Given the description of an element on the screen output the (x, y) to click on. 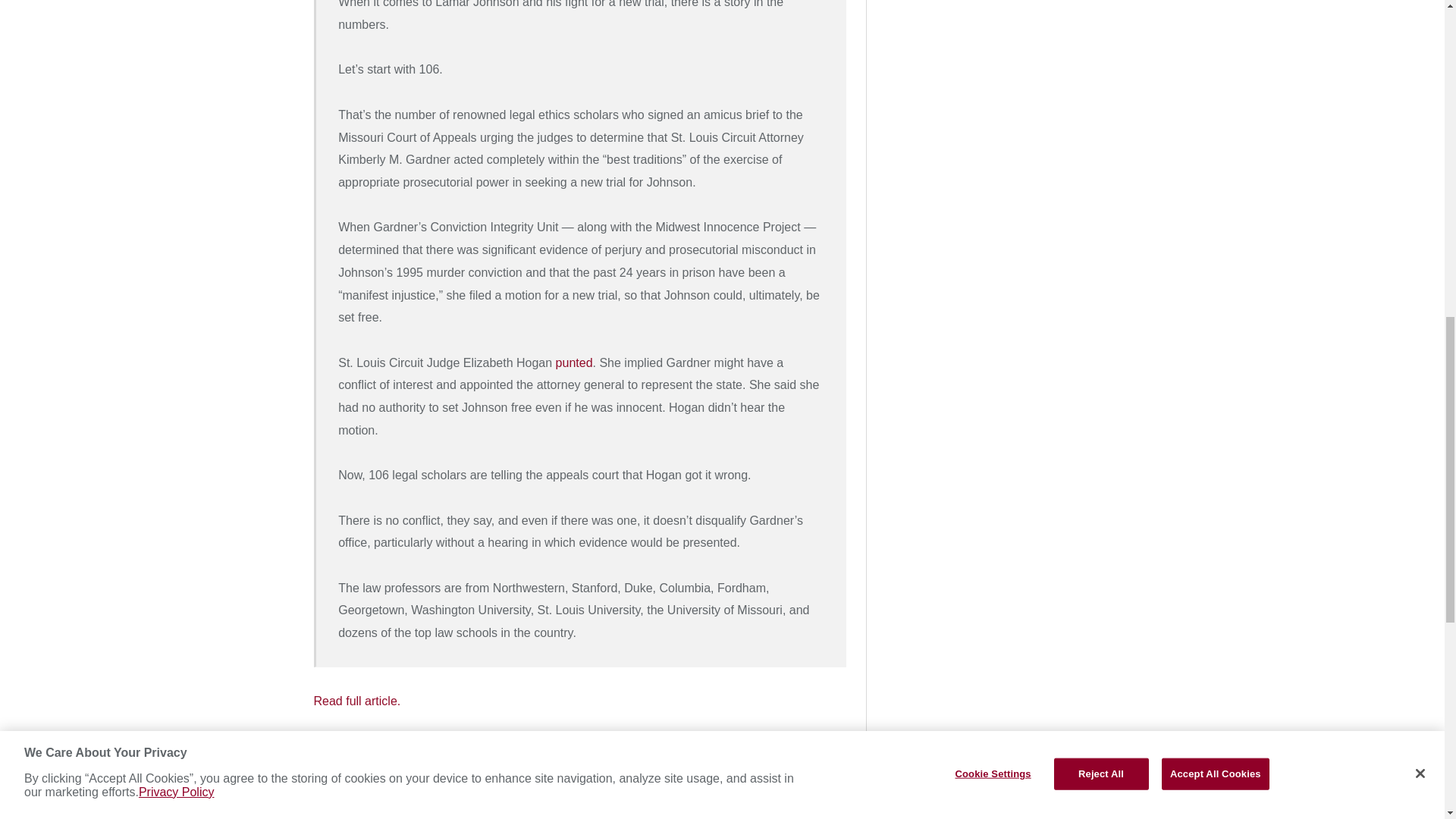
Read full article. (357, 700)
Facebook (572, 766)
punted (574, 362)
Twitter (523, 766)
